Given the description of an element on the screen output the (x, y) to click on. 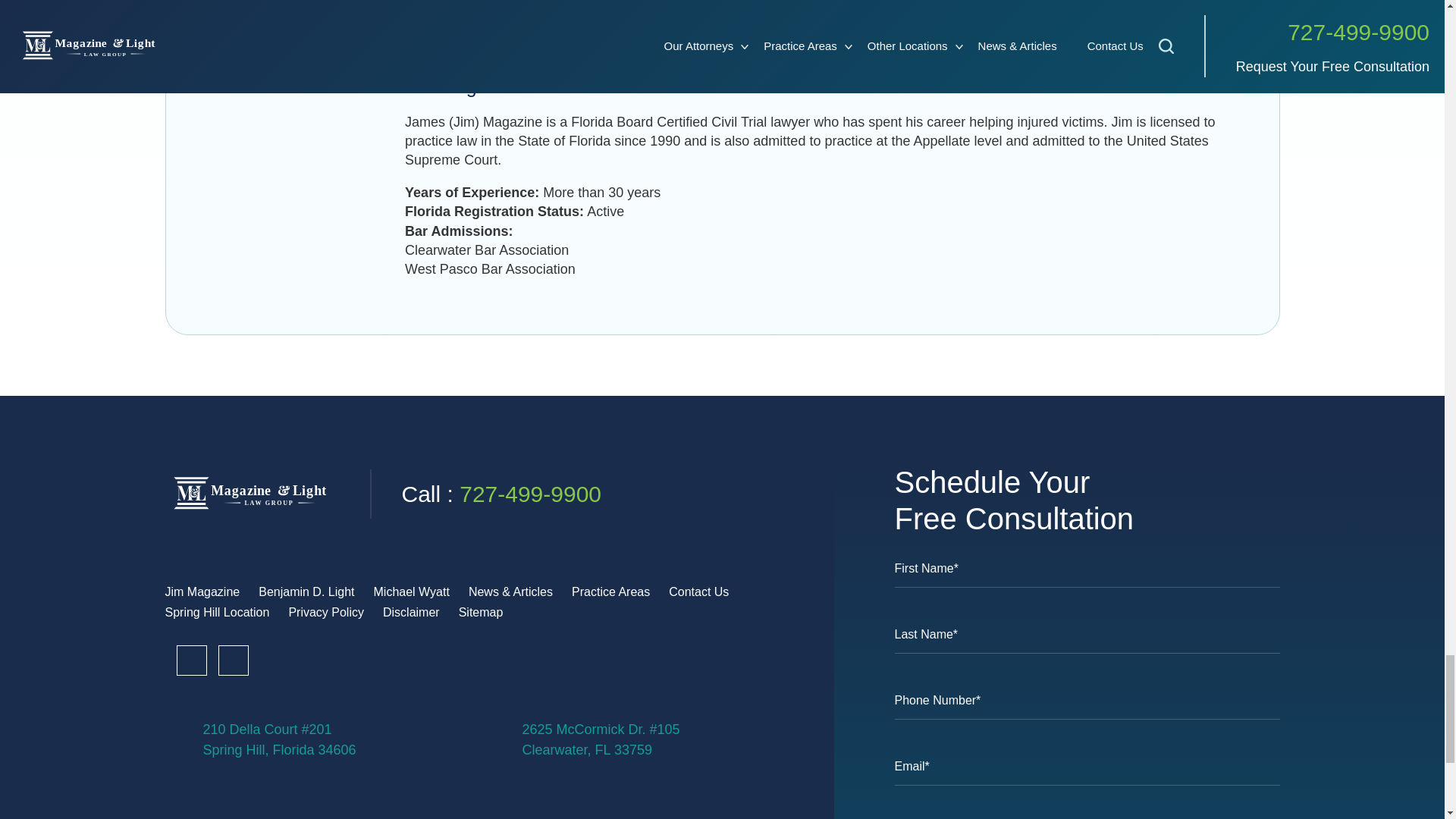
facebook (191, 660)
linkedin (233, 660)
footer-logo (252, 494)
insta (274, 660)
tiktok (316, 660)
google (357, 660)
